Given the description of an element on the screen output the (x, y) to click on. 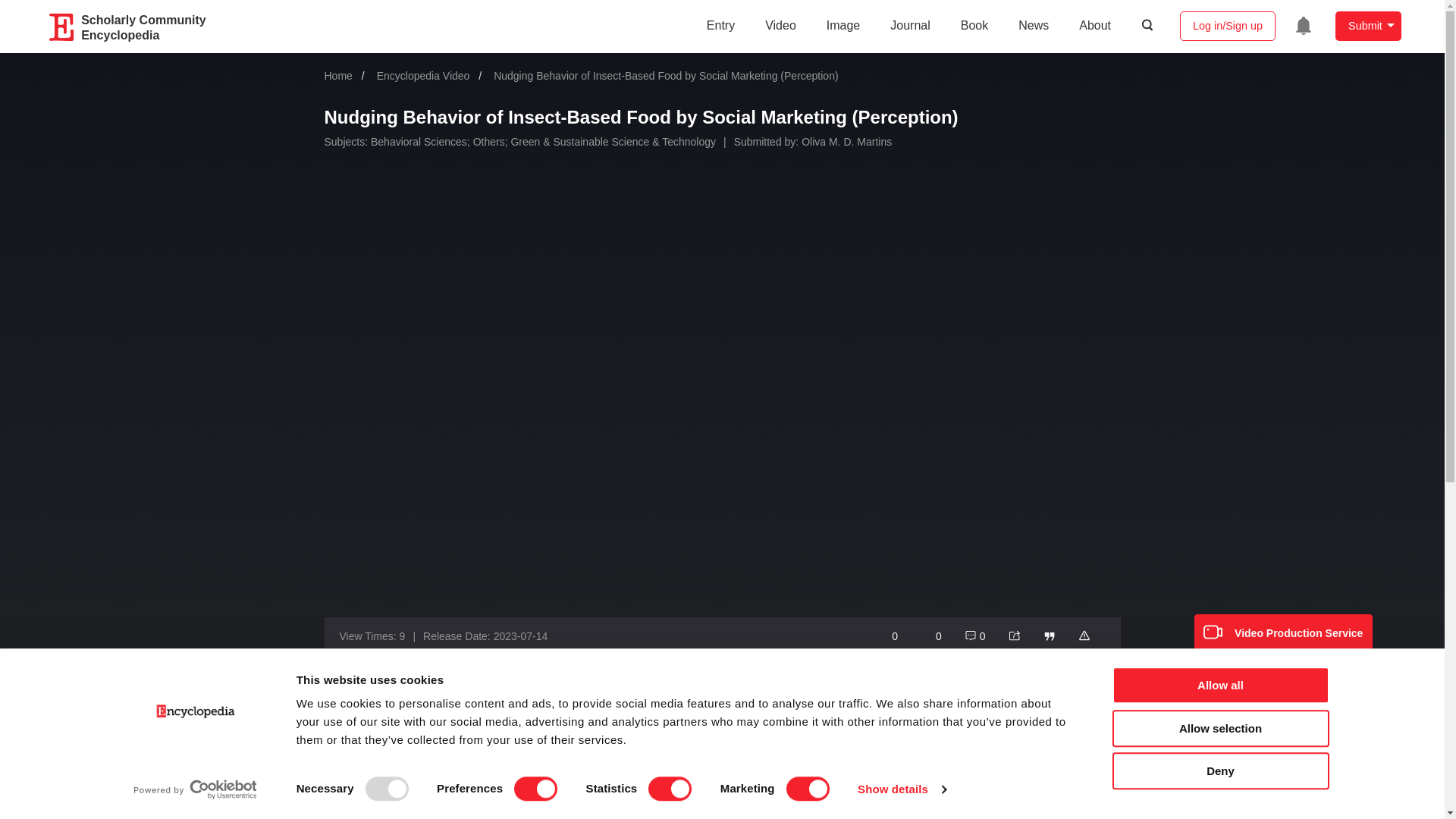
Show details (900, 789)
Share (1014, 635)
Comment (974, 635)
Like (930, 635)
Favorite (887, 635)
Report (1083, 635)
Deny (1219, 770)
